Given the description of an element on the screen output the (x, y) to click on. 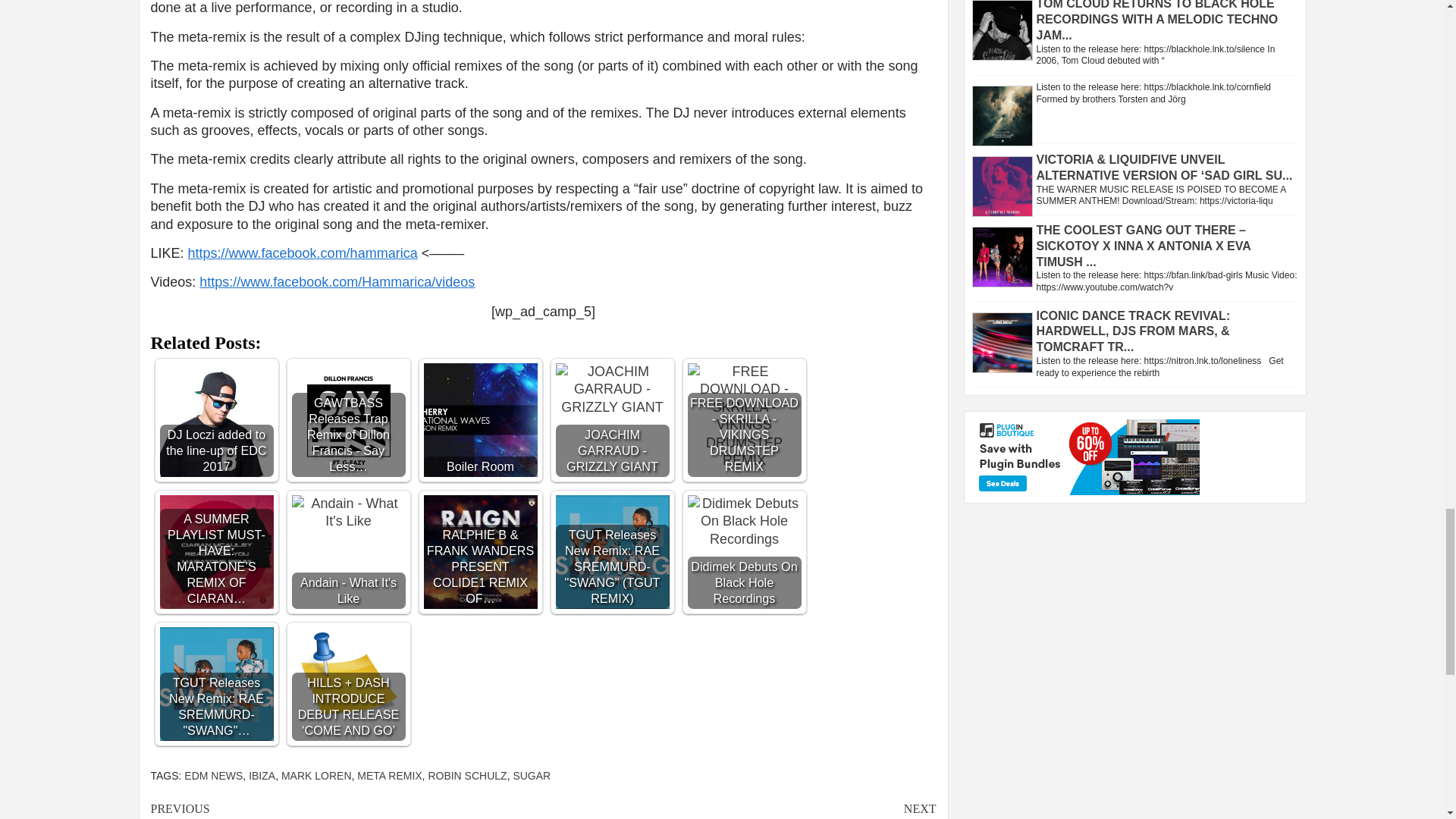
DJ Loczi added to the line-up of EDC 2017 (215, 419)
Boiler Room (480, 419)
Music Software Bundles from Pluginboutique.com (1085, 457)
DJ Loczi added to the line-up of EDC 2017 (215, 419)
JOACHIM GARRAUD - GRIZZLY GIANT (611, 389)
Andain - What It's Like   (347, 512)
Didimek Debuts On Black Hole Recordings (743, 521)
FREE DOWNLOAD - SKRILLA - VIKINGS DRUMSTEP REMIX (743, 416)
